Given the description of an element on the screen output the (x, y) to click on. 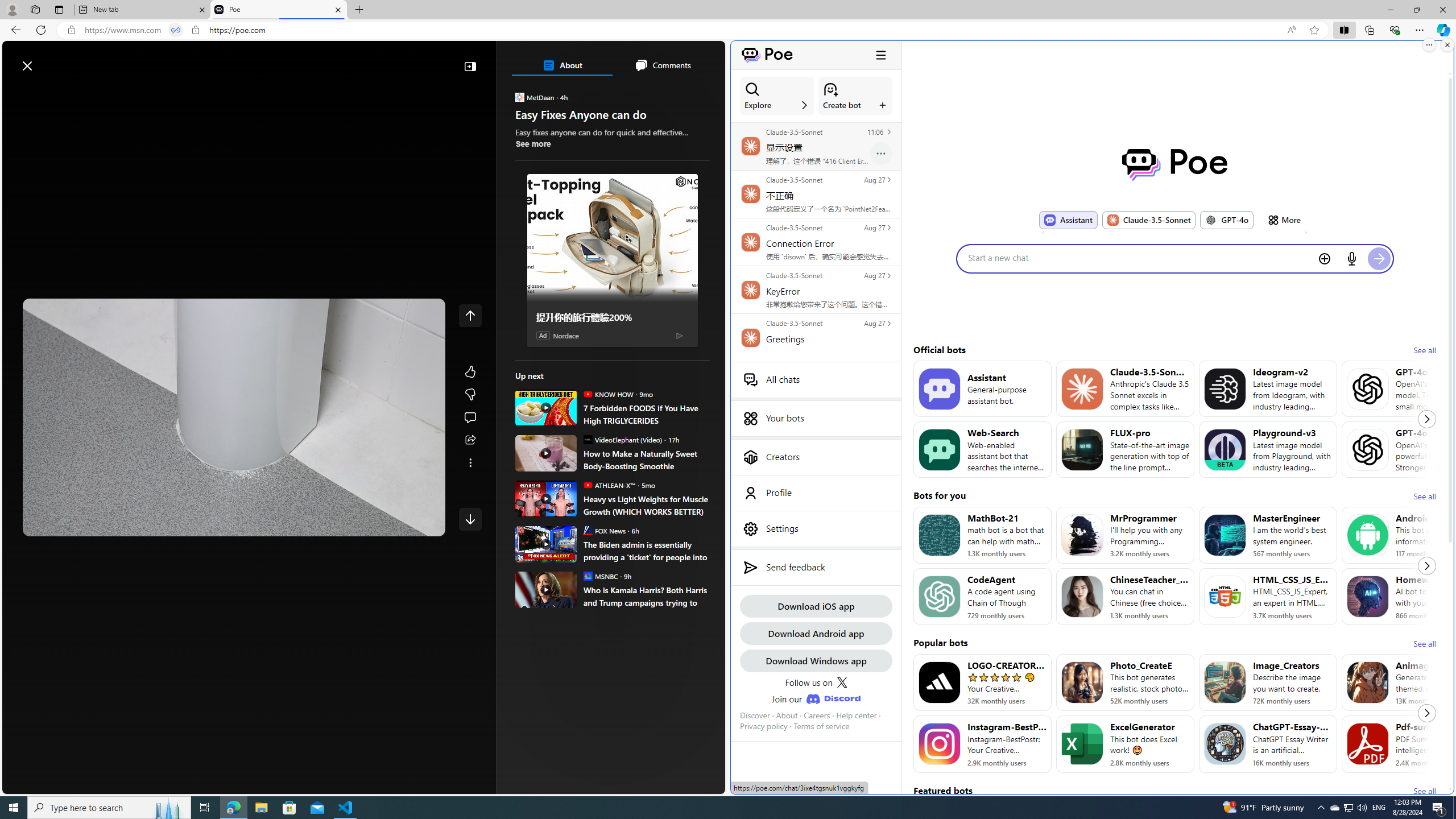
KNOW HOW (587, 393)
Bot image for LOGO-CREATOR-AI (938, 682)
Bot image for CodeAgent (938, 596)
Summer Sale! Up to -55% (616, 571)
Send feedback (815, 567)
Your bots (815, 418)
Bot image for MathBot-21 (938, 534)
Bot image for FLUX-pro (1081, 449)
Collapse (469, 65)
KNOW HOW KNOW HOW (607, 393)
